Given the description of an element on the screen output the (x, y) to click on. 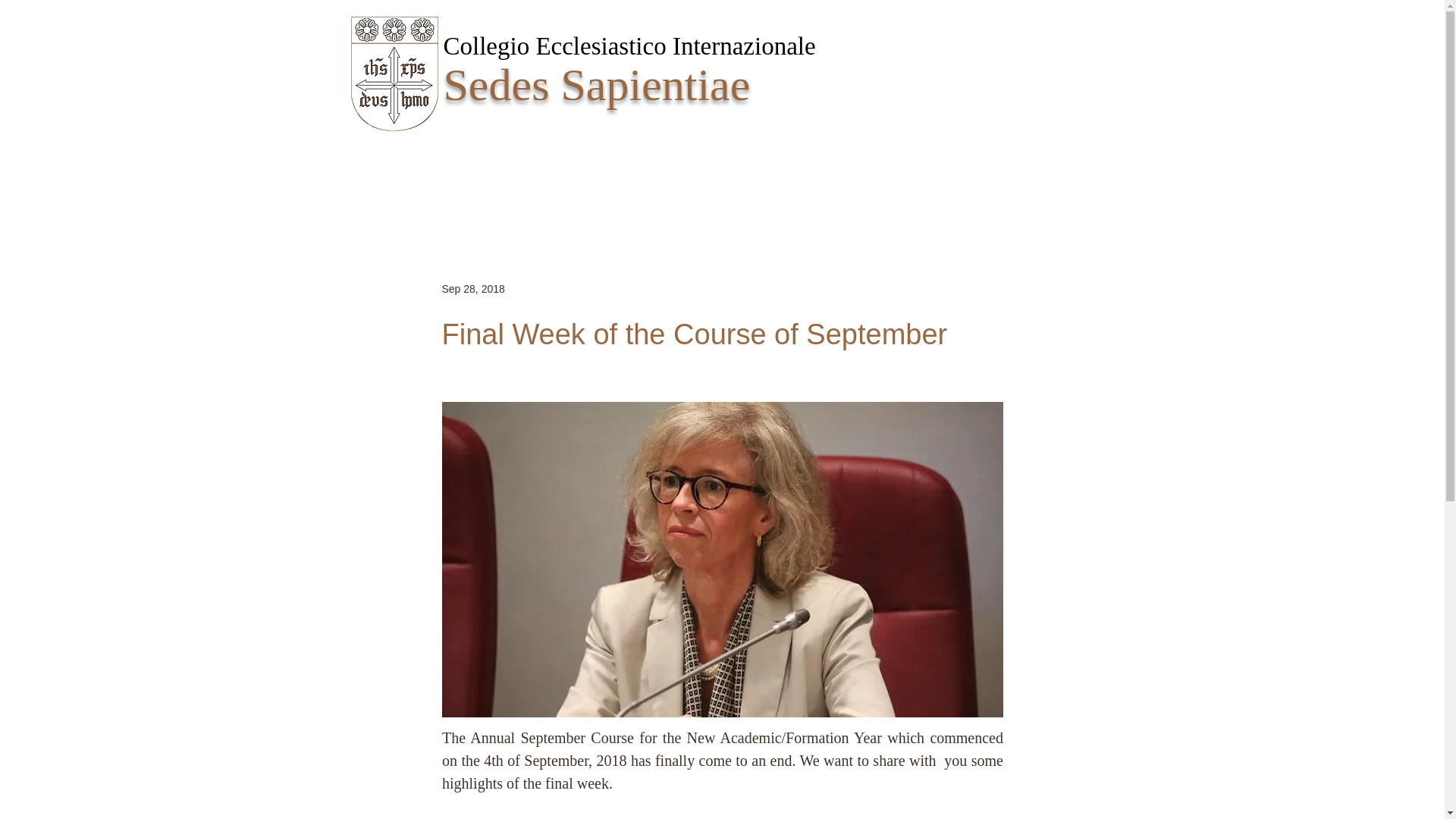
Sep 28, 2018 (472, 287)
